Given the description of an element on the screen output the (x, y) to click on. 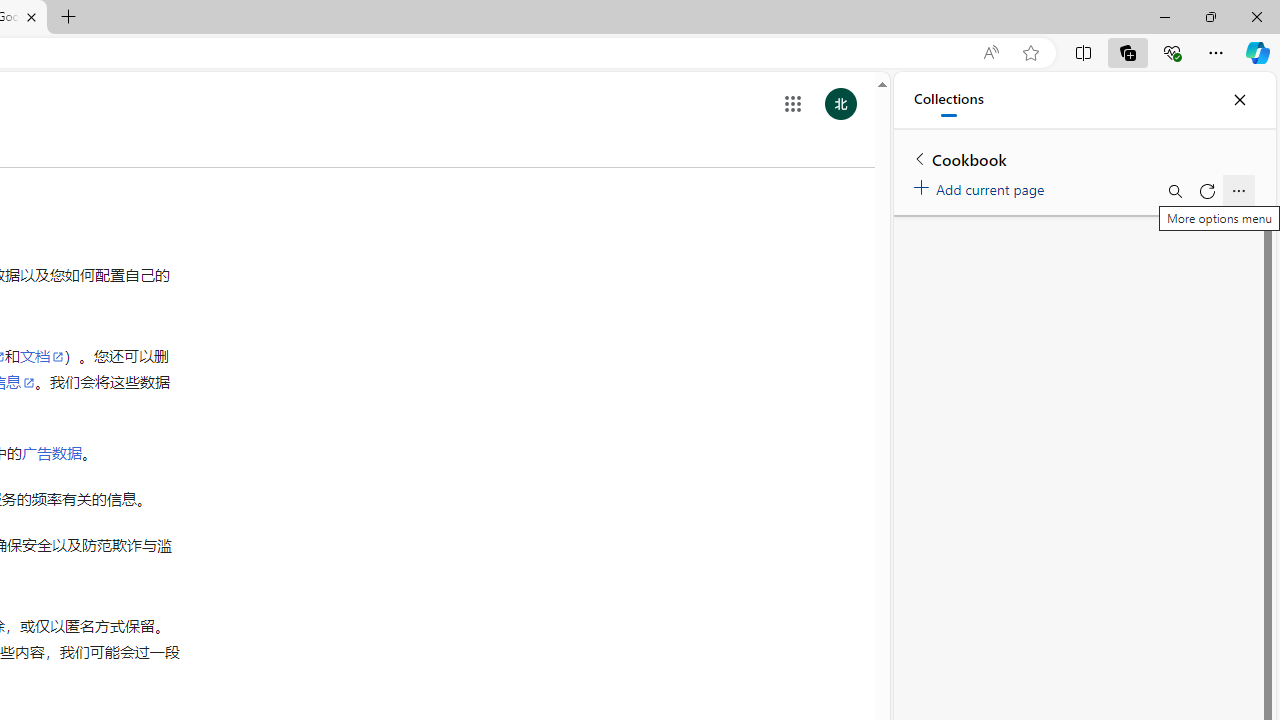
Add current page (982, 186)
More options menu (1238, 190)
Back to list of collections (920, 158)
